Given the description of an element on the screen output the (x, y) to click on. 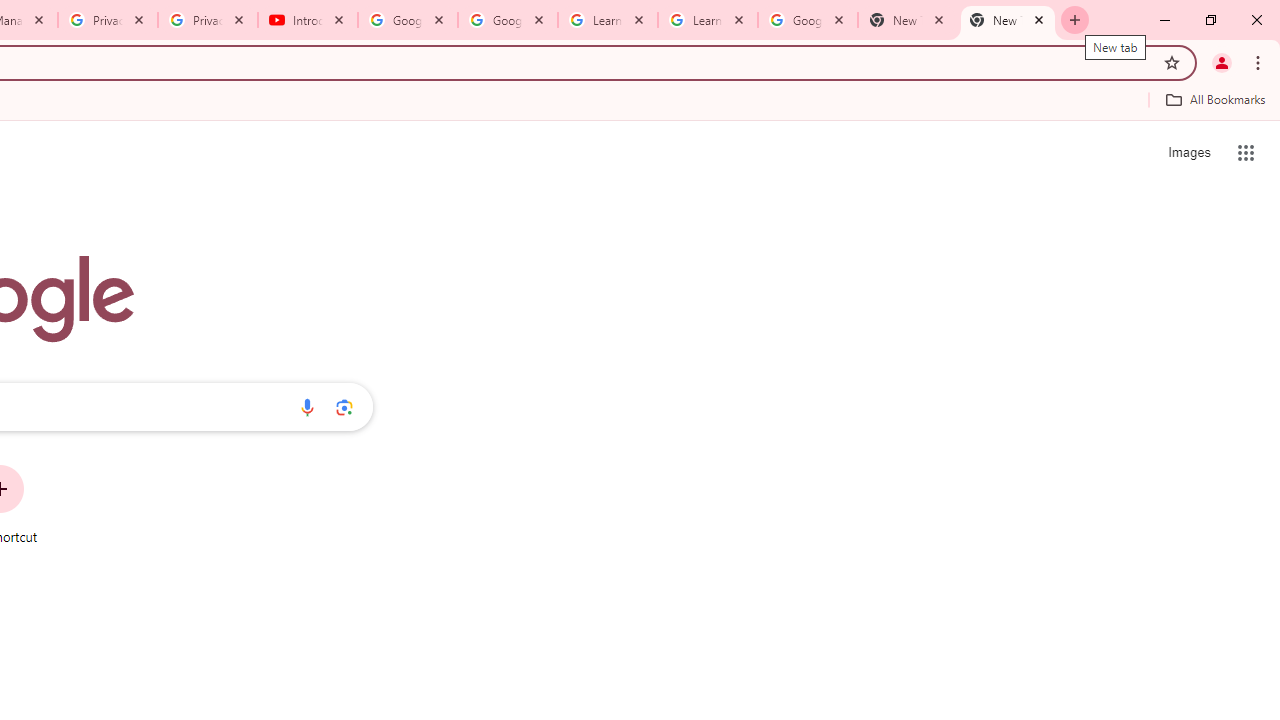
Google Account (807, 20)
New Tab (907, 20)
Introduction | Google Privacy Policy - YouTube (308, 20)
